Given the description of an element on the screen output the (x, y) to click on. 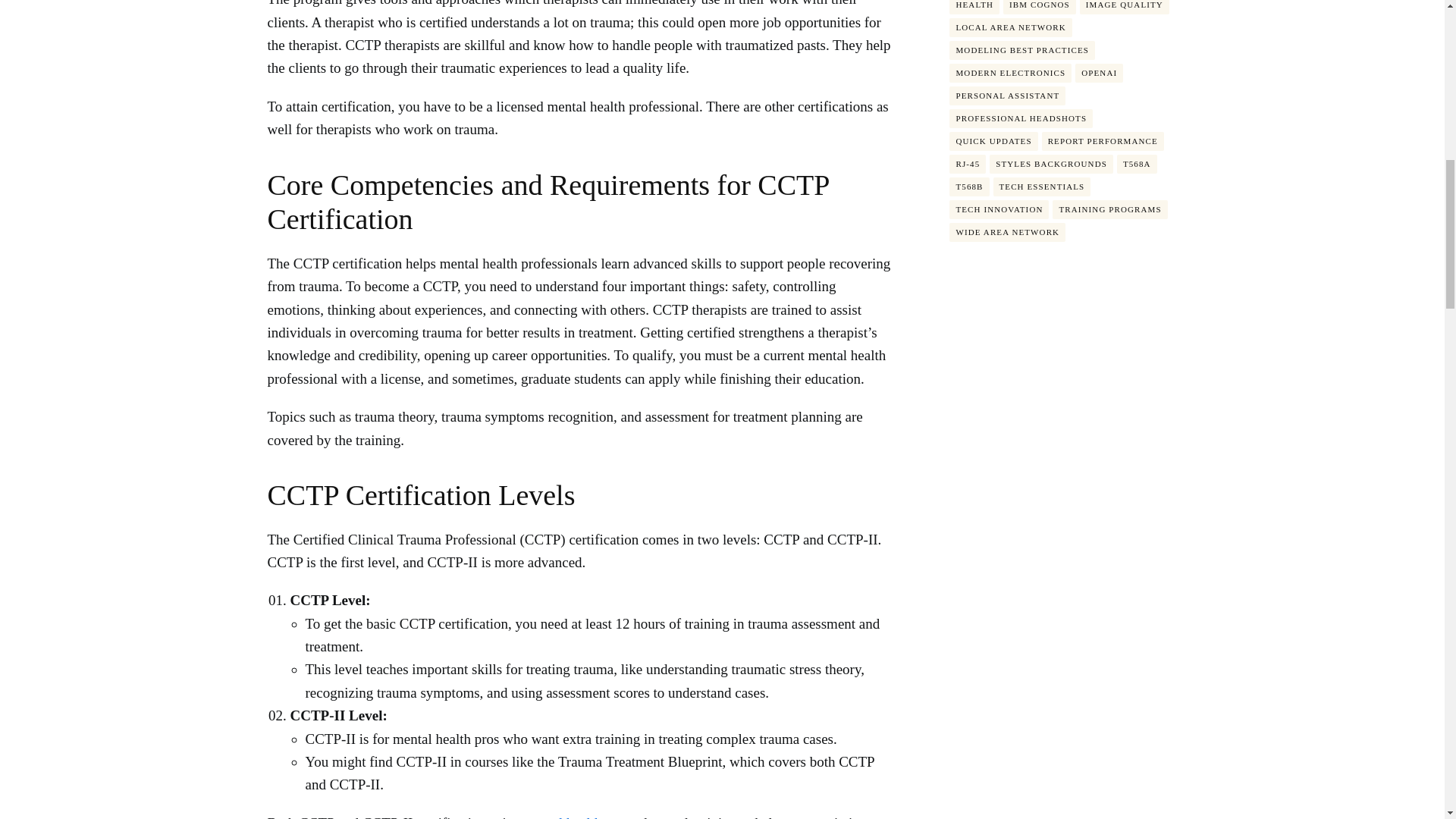
mental health (563, 816)
